Given the description of an element on the screen output the (x, y) to click on. 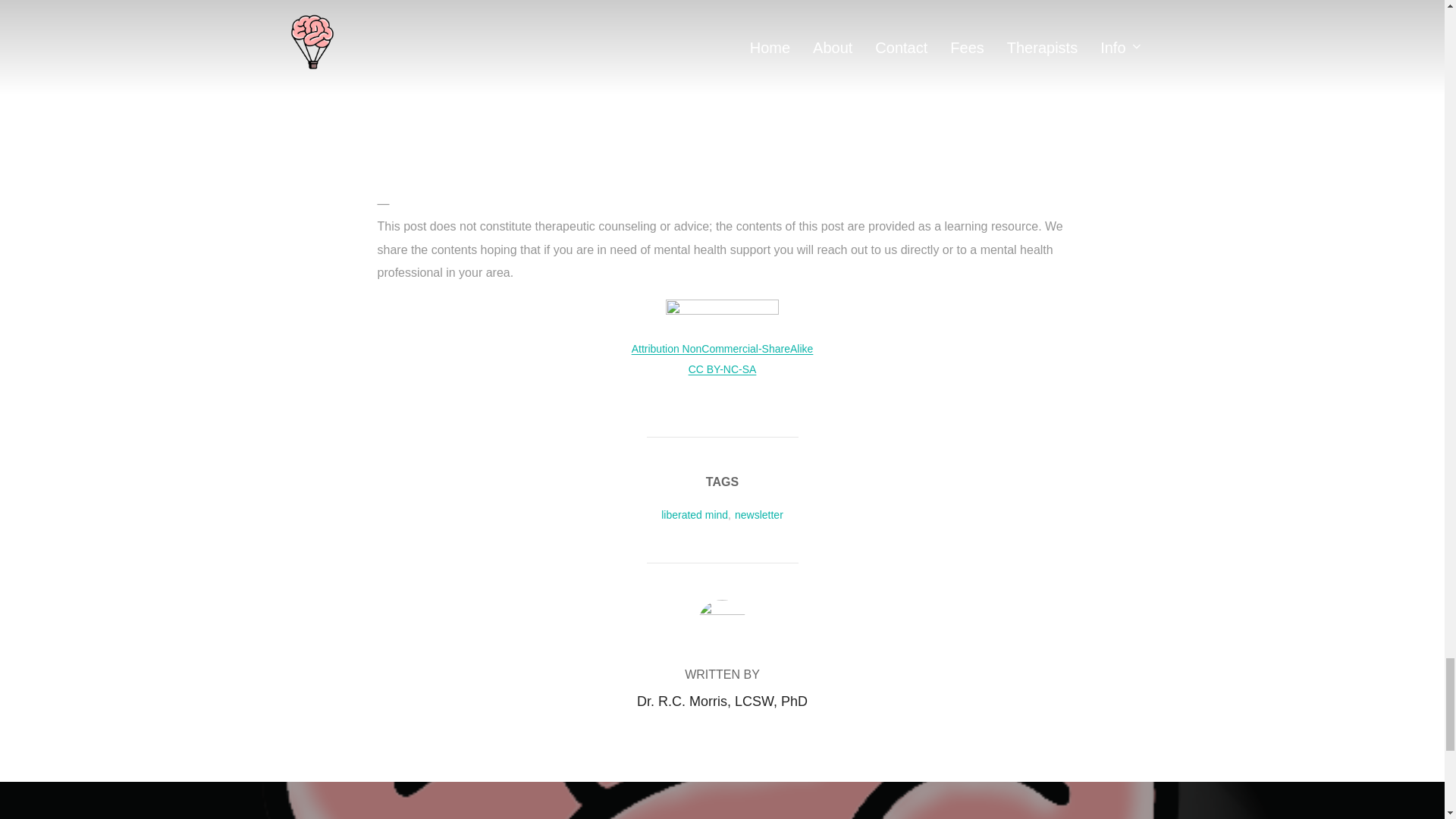
Posts by Dr. R.C. Morris, LCSW, PhD (722, 701)
